Given the description of an element on the screen output the (x, y) to click on. 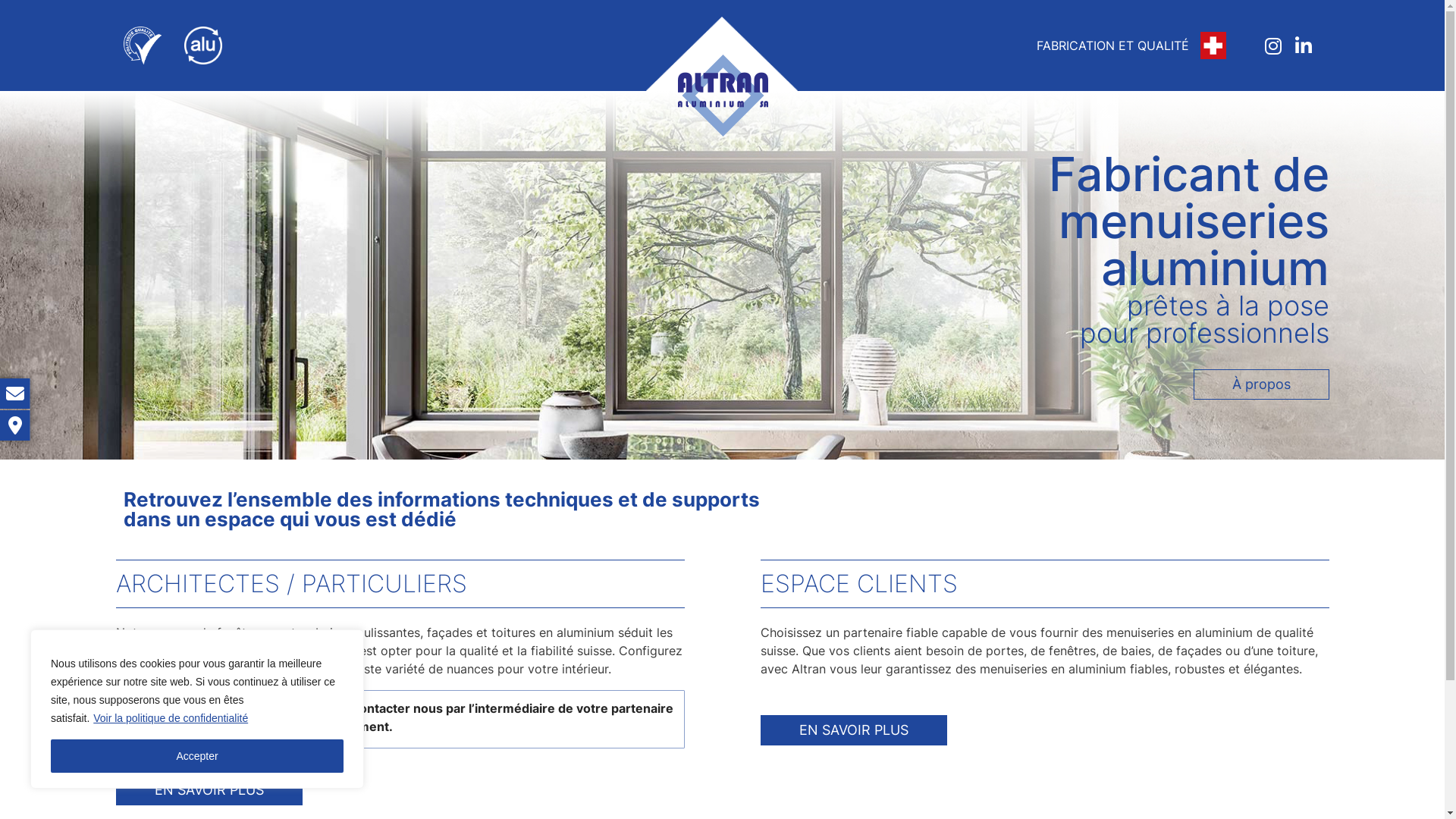
EN SAVOIR PLUS Element type: text (852, 730)
Accepter Element type: text (196, 755)
EN SAVOIR PLUS Element type: text (208, 790)
